Given the description of an element on the screen output the (x, y) to click on. 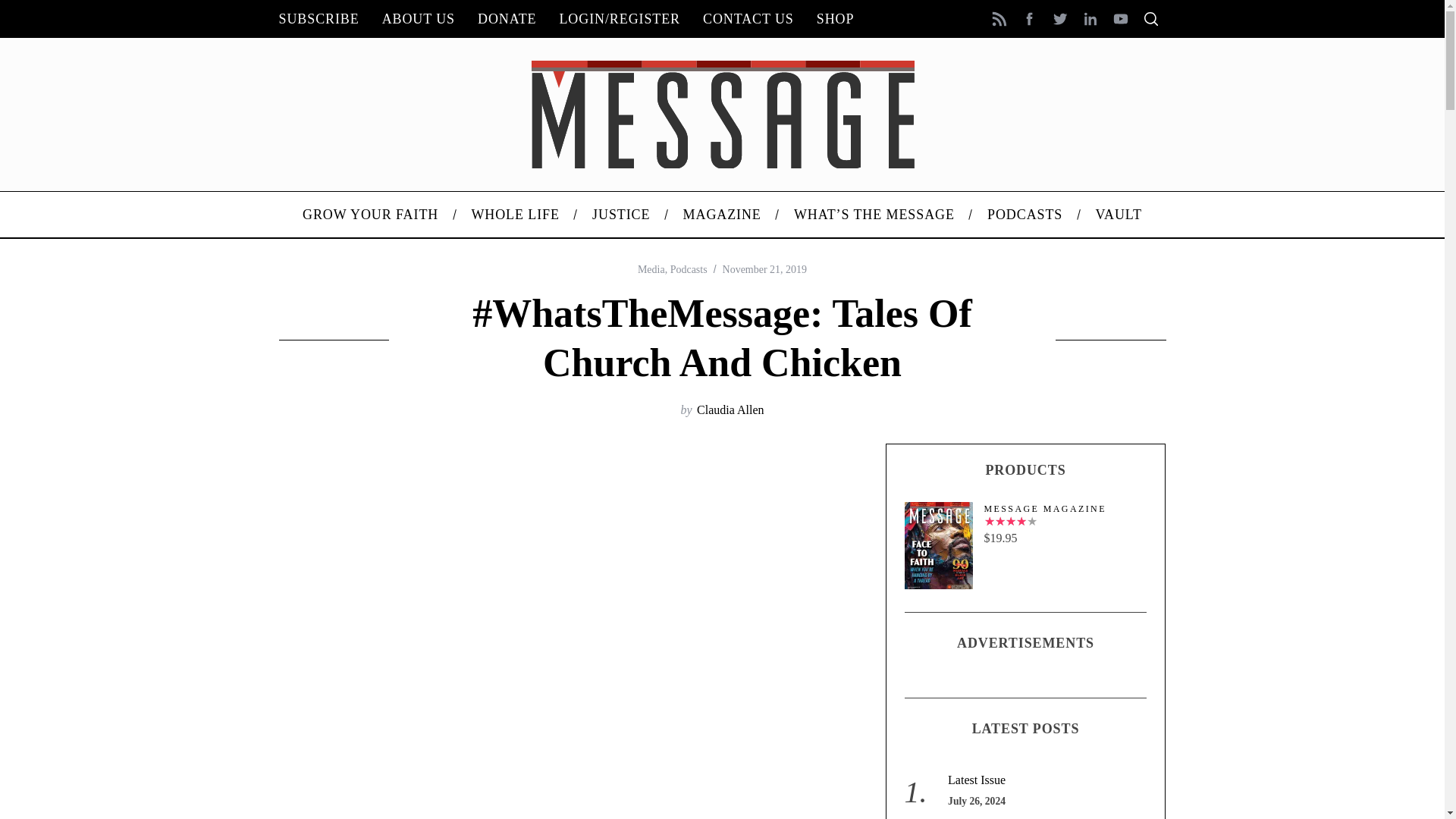
GROW YOUR FAITH (369, 214)
ABOUT US (418, 18)
CONTACT US (748, 18)
DONATE (506, 18)
SHOP (835, 18)
WHOLE LIFE (515, 214)
JUSTICE (620, 214)
MAGAZINE (721, 214)
SUBSCRIBE (317, 18)
